Given the description of an element on the screen output the (x, y) to click on. 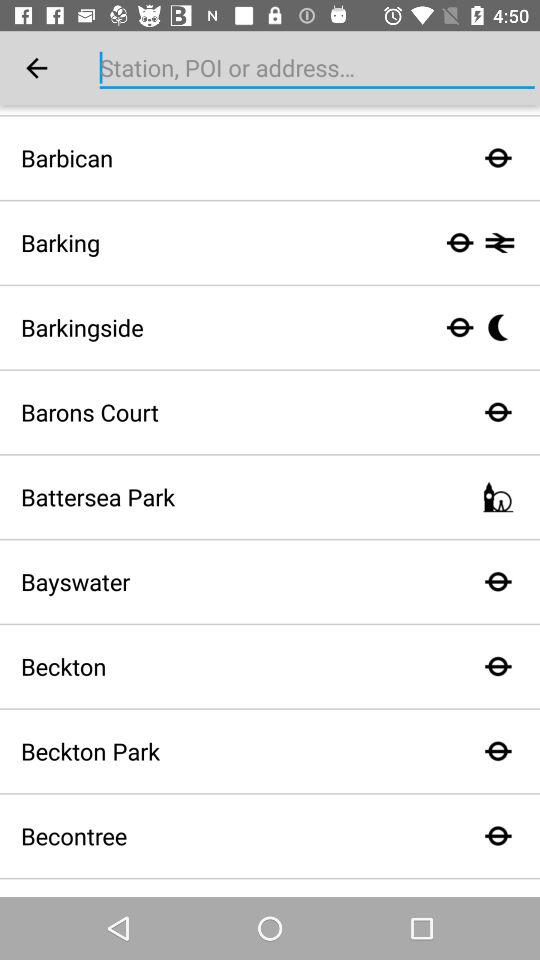
station poi or address (317, 67)
